Given the description of an element on the screen output the (x, y) to click on. 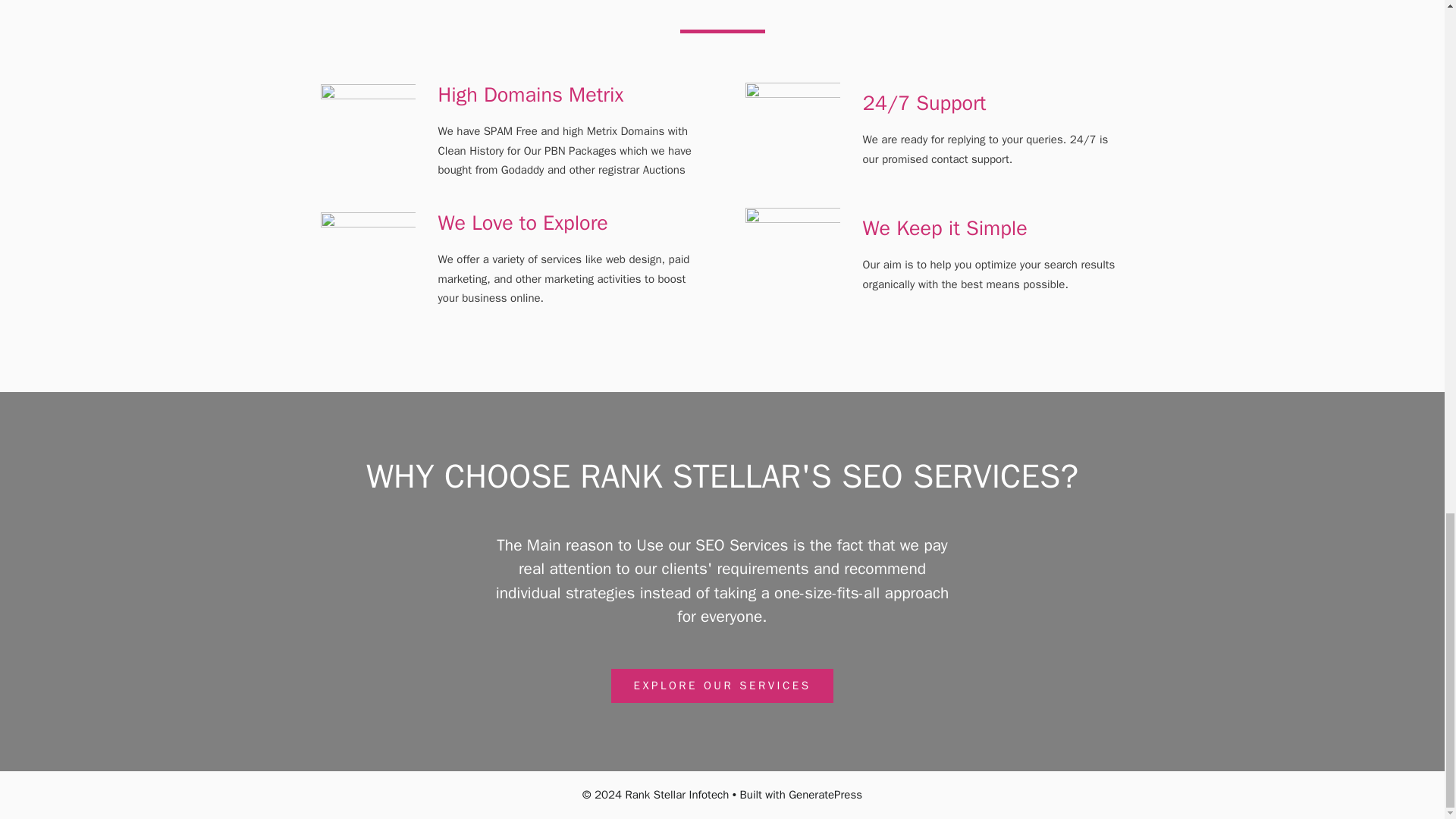
GeneratePress (825, 794)
EXPLORE OUR SERVICES (722, 685)
